Given the description of an element on the screen output the (x, y) to click on. 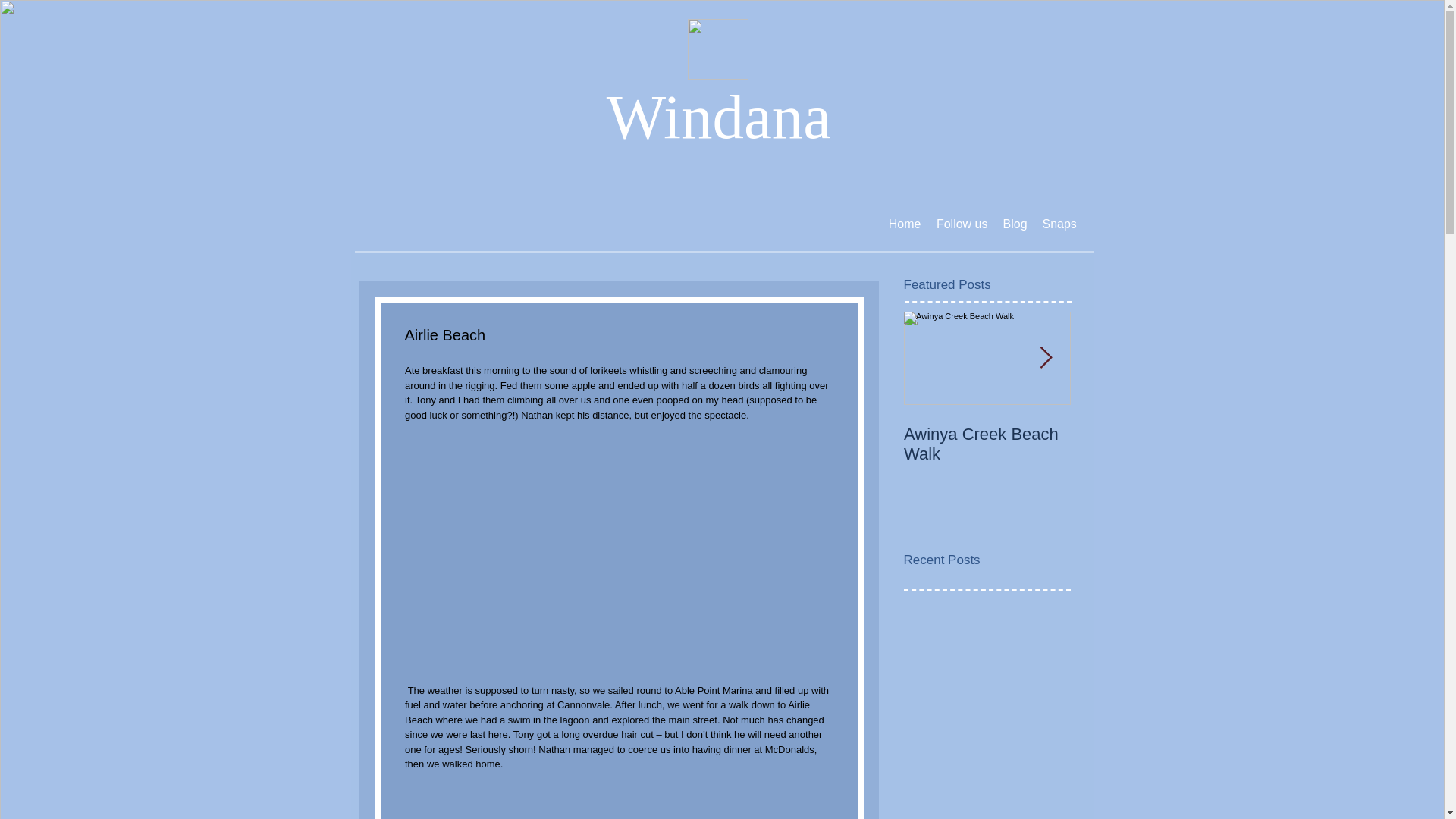
Home (904, 223)
Blog (1013, 223)
Follow us (961, 223)
Awinya Creek, Fraser Island (1153, 444)
Awinya Creek Beach Walk (987, 444)
Snaps (1058, 223)
